Given the description of an element on the screen output the (x, y) to click on. 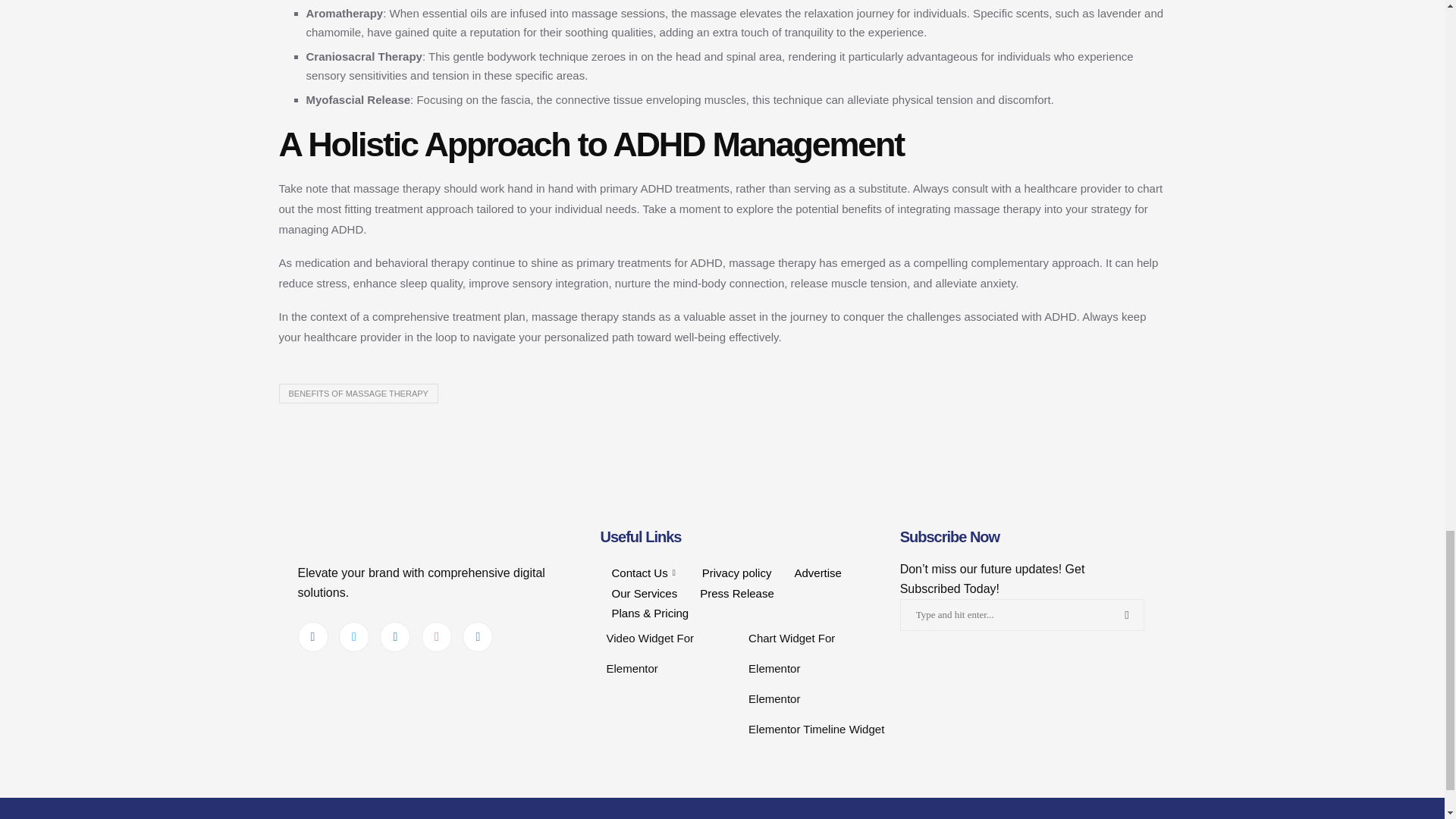
Privacy policy (736, 572)
Our Services (643, 593)
BENEFITS OF MASSAGE THERAPY (358, 393)
Advertise (818, 572)
Contact Us (644, 572)
